Given the description of an element on the screen output the (x, y) to click on. 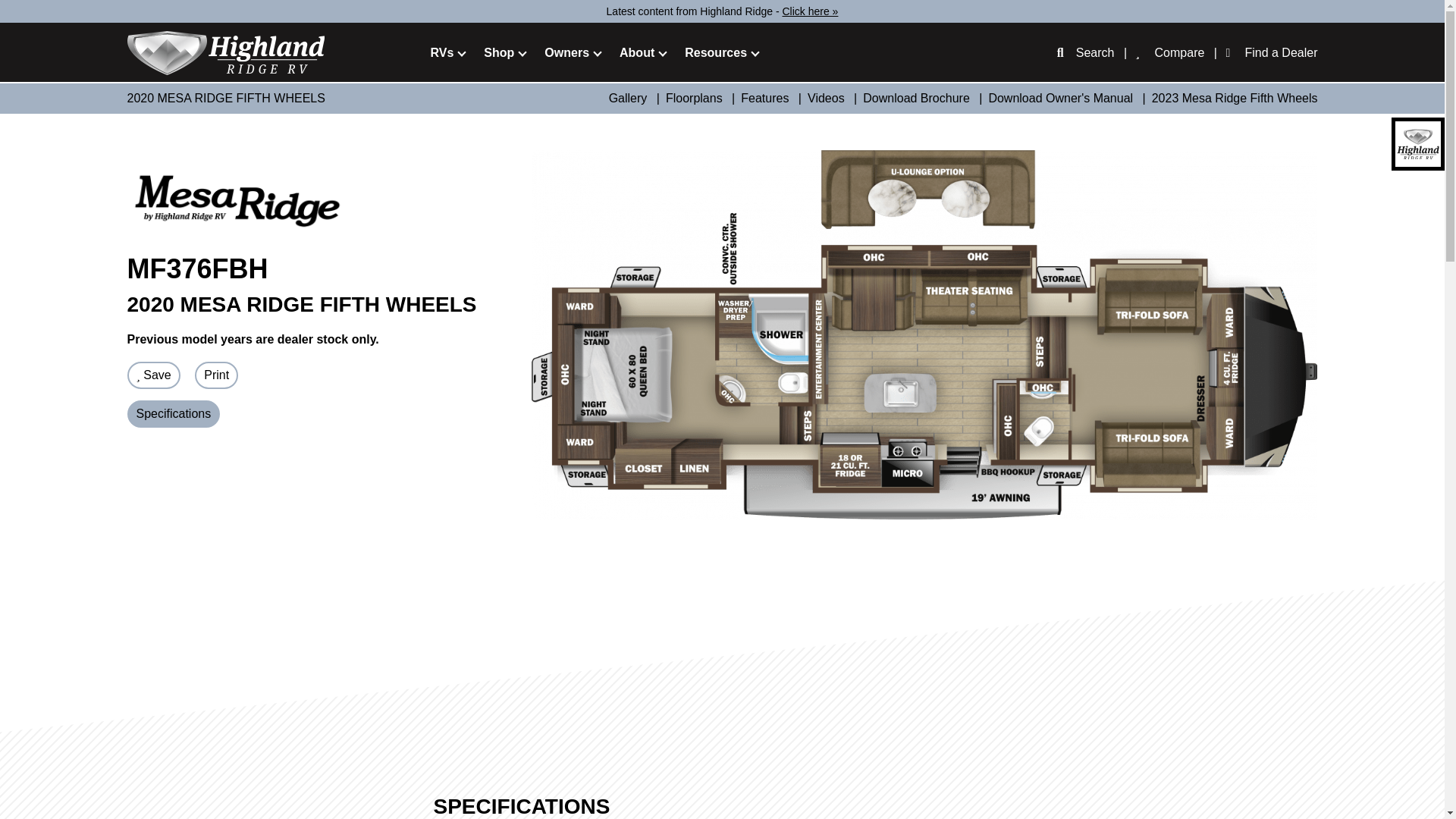
Resources (715, 53)
Find a Dealer (1280, 53)
Owners (566, 53)
Compare (1179, 53)
About (636, 53)
Shop (498, 53)
RVs (442, 53)
Search (1095, 53)
